Given the description of an element on the screen output the (x, y) to click on. 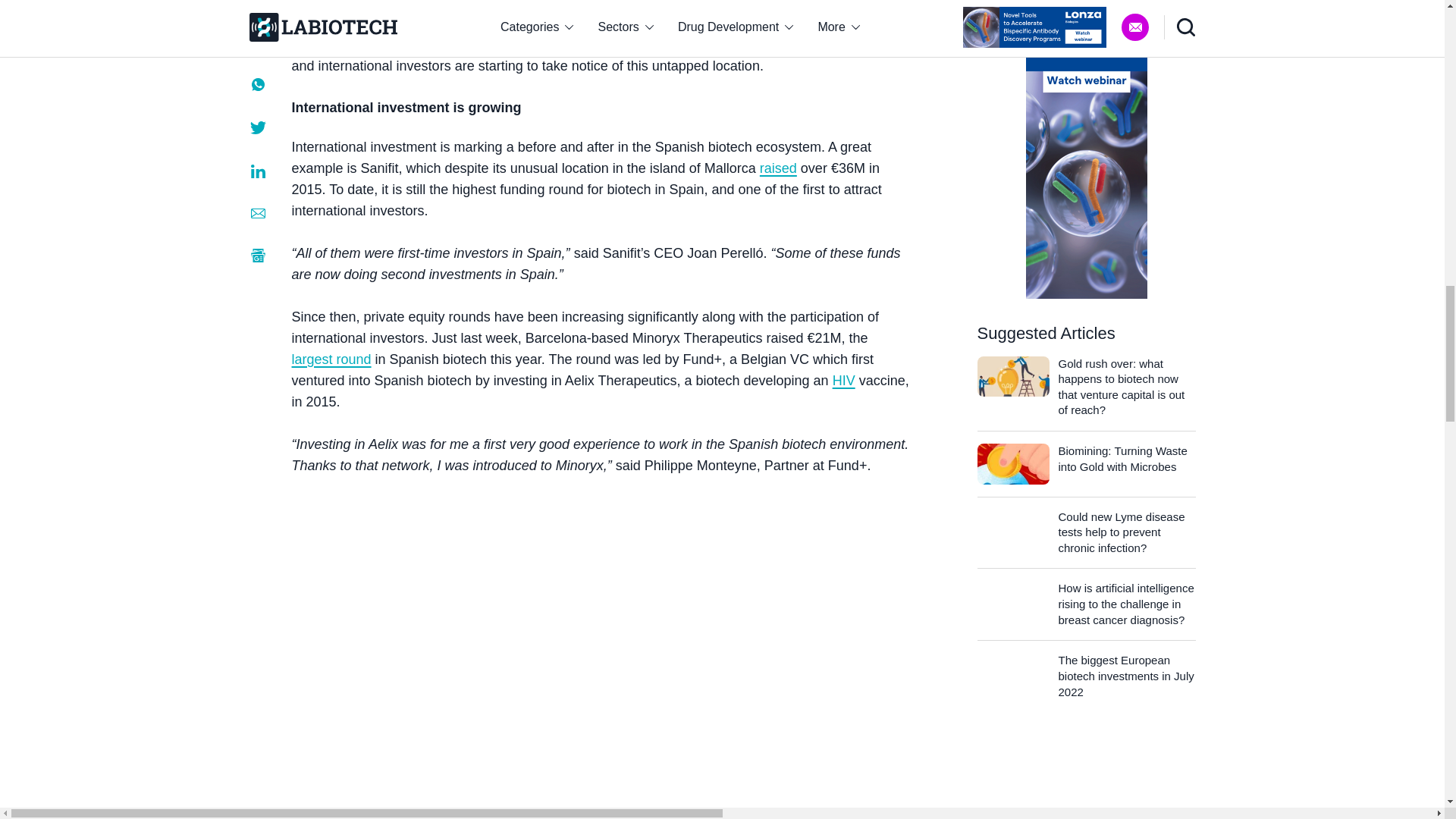
HIV (844, 380)
